Given the description of an element on the screen output the (x, y) to click on. 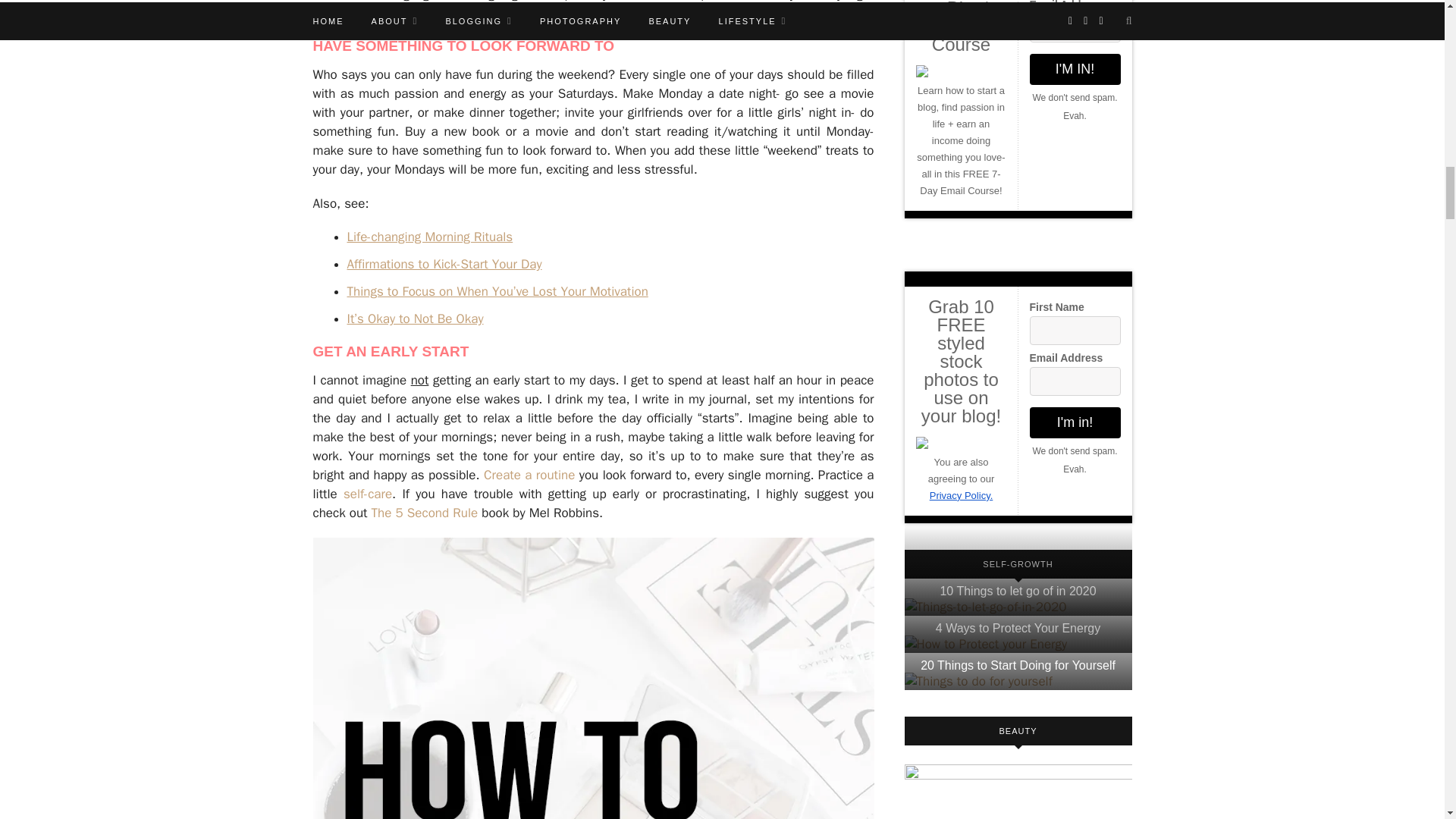
Life-changing Morning Rituals (430, 236)
self-care (367, 494)
Create a routine (529, 474)
The 5 Second Rule (426, 512)
Affirmations to Kick-Start Your Day (444, 263)
